Given the description of an element on the screen output the (x, y) to click on. 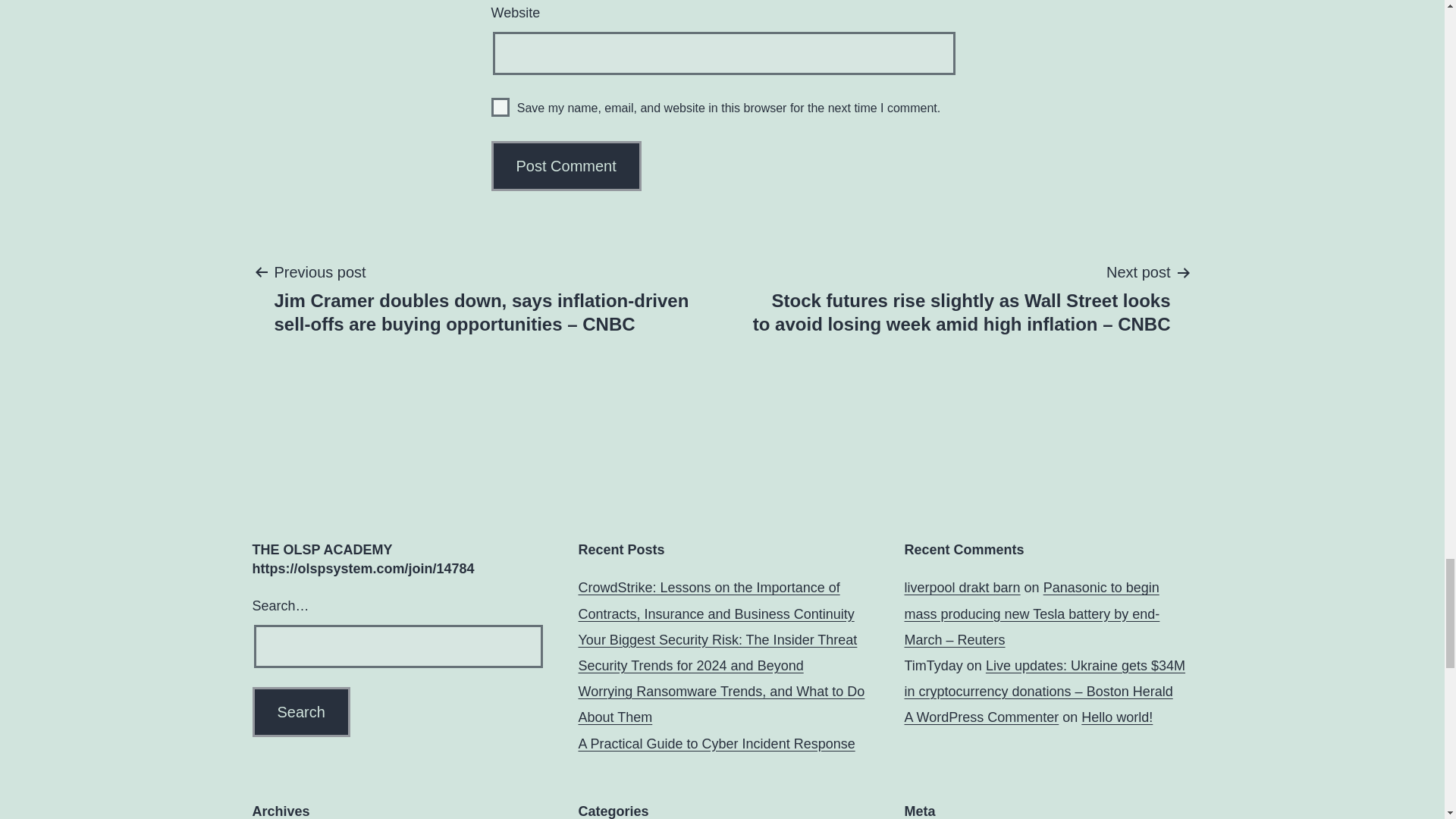
Your Biggest Security Risk: The Insider Threat (717, 639)
Search (300, 712)
Post Comment (567, 165)
yes (500, 107)
Hello world! (1117, 717)
Post Comment (567, 165)
Search (300, 712)
Worrying Ransomware Trends, and What to Do About Them (721, 703)
Security Trends for 2024 and Beyond (690, 665)
liverpool drakt barn (962, 587)
Search (300, 712)
A WordPress Commenter (981, 717)
A Practical Guide to Cyber Incident Response (716, 743)
